Given the description of an element on the screen output the (x, y) to click on. 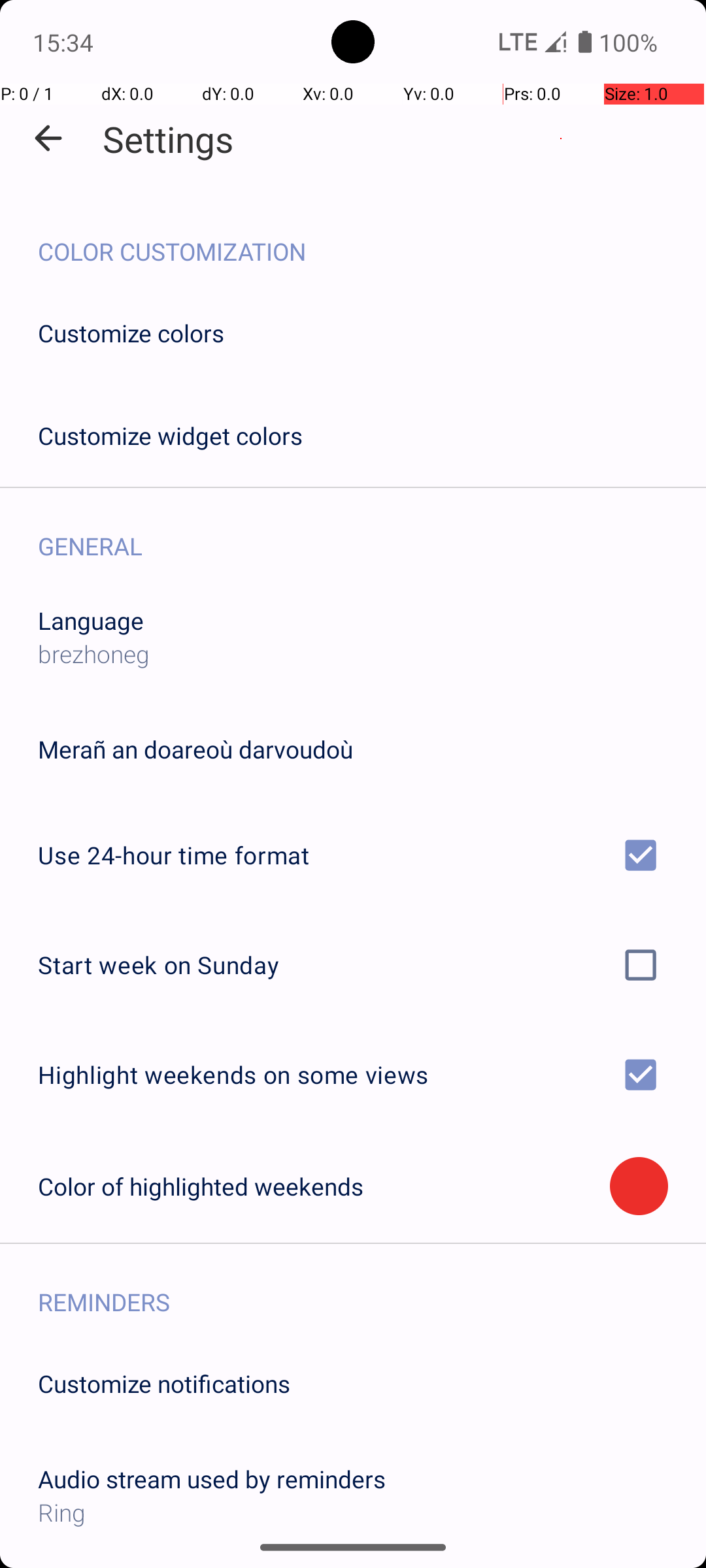
brezhoneg Element type: android.widget.TextView (93, 653)
Merañ an doareoù darvoudoù Element type: android.widget.TextView (195, 748)
Color of highlighted weekends Element type: android.widget.TextView (323, 1186)
Ring Element type: android.widget.TextView (352, 1511)
